Given the description of an element on the screen output the (x, y) to click on. 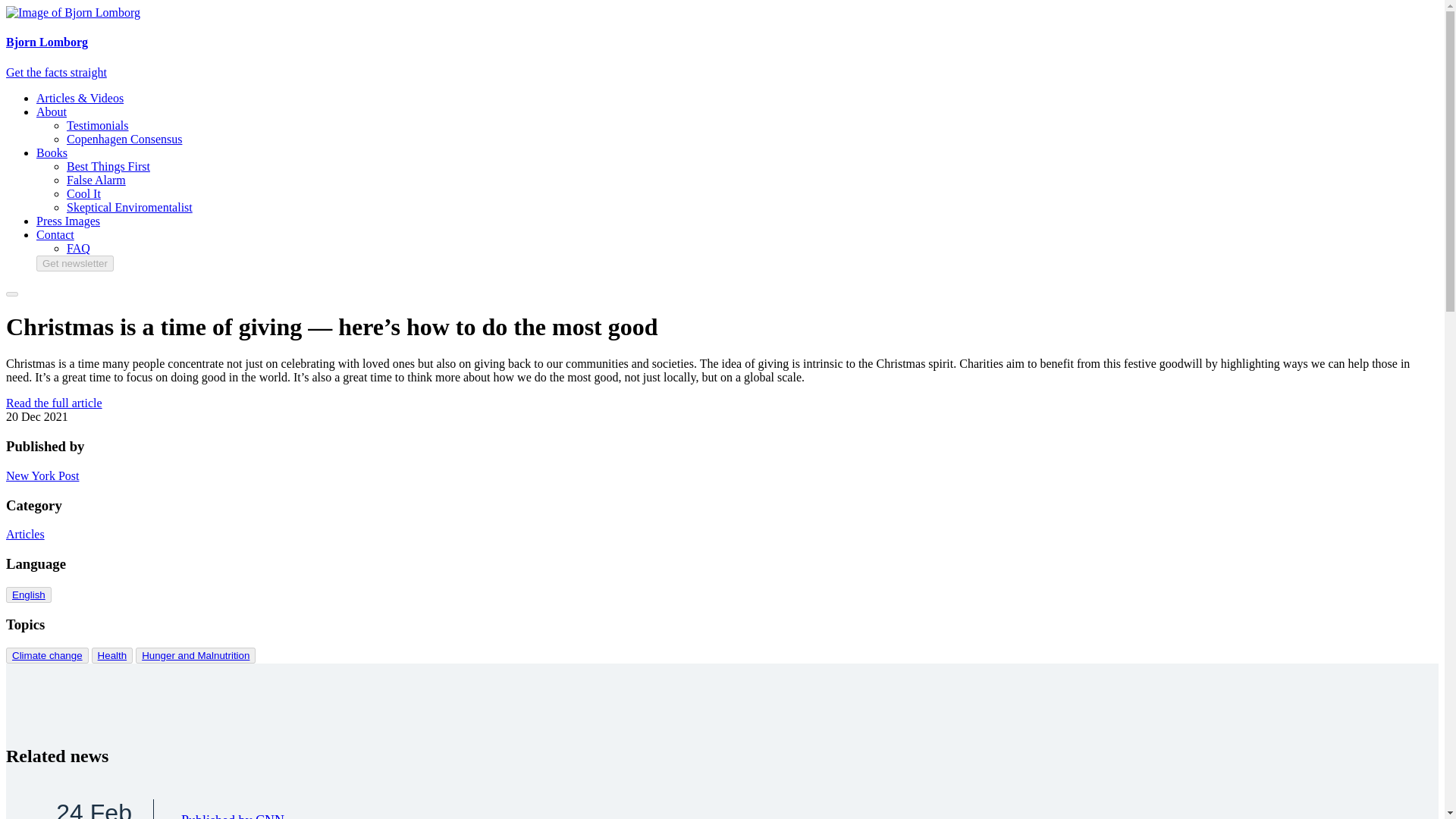
FAQ (78, 247)
Press Images (68, 220)
Skeptical Enviromentalist (79, 809)
New York Post (129, 206)
Hunger and Malnutrition (41, 475)
Articles (195, 655)
Read the full article (25, 533)
English (53, 402)
Cool It (28, 594)
Books (83, 193)
Get newsletter (51, 152)
English (74, 263)
Get the facts straight (27, 594)
Health (55, 72)
